Given the description of an element on the screen output the (x, y) to click on. 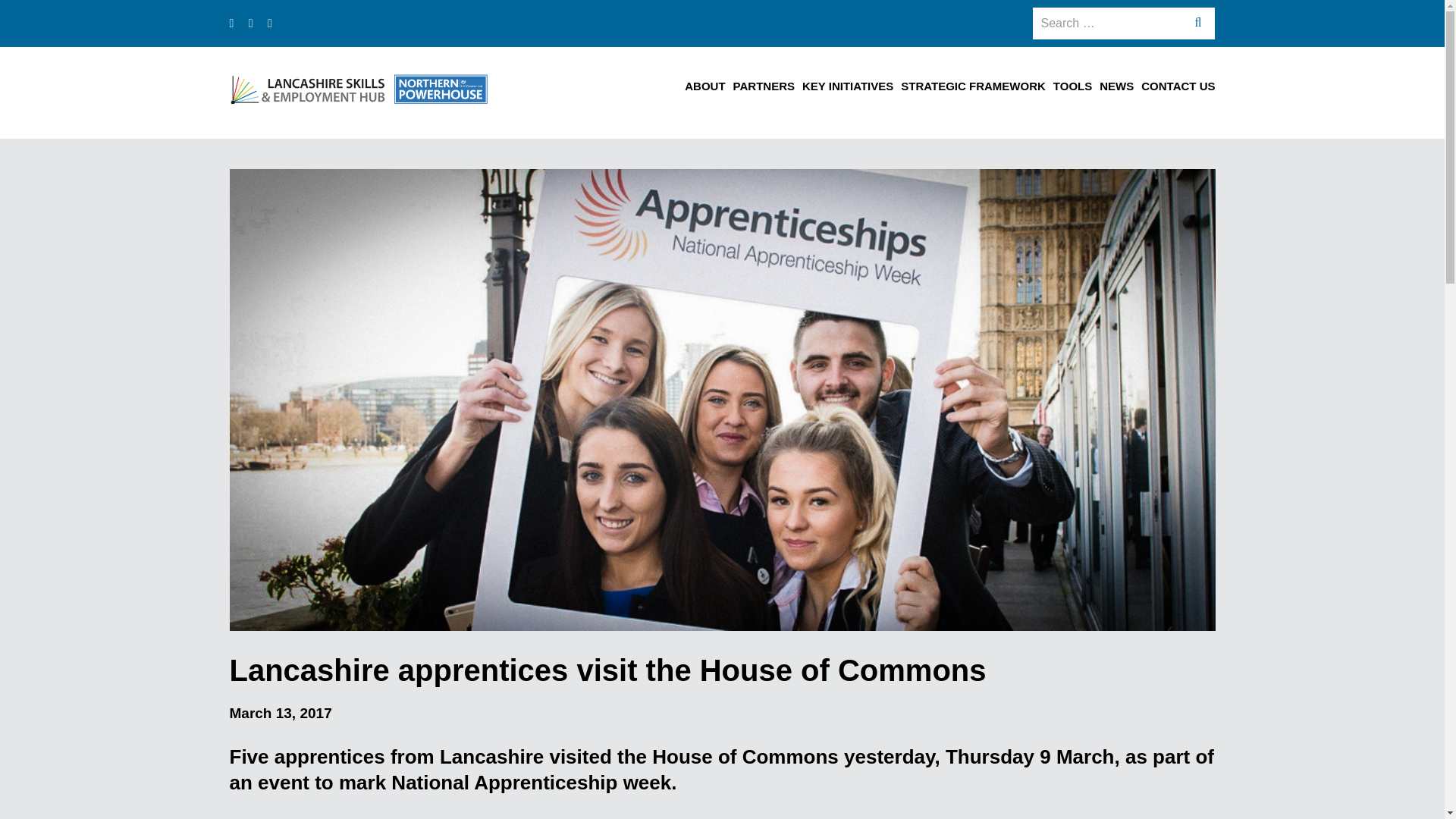
Search (1199, 24)
ABOUT (704, 89)
